Given the description of an element on the screen output the (x, y) to click on. 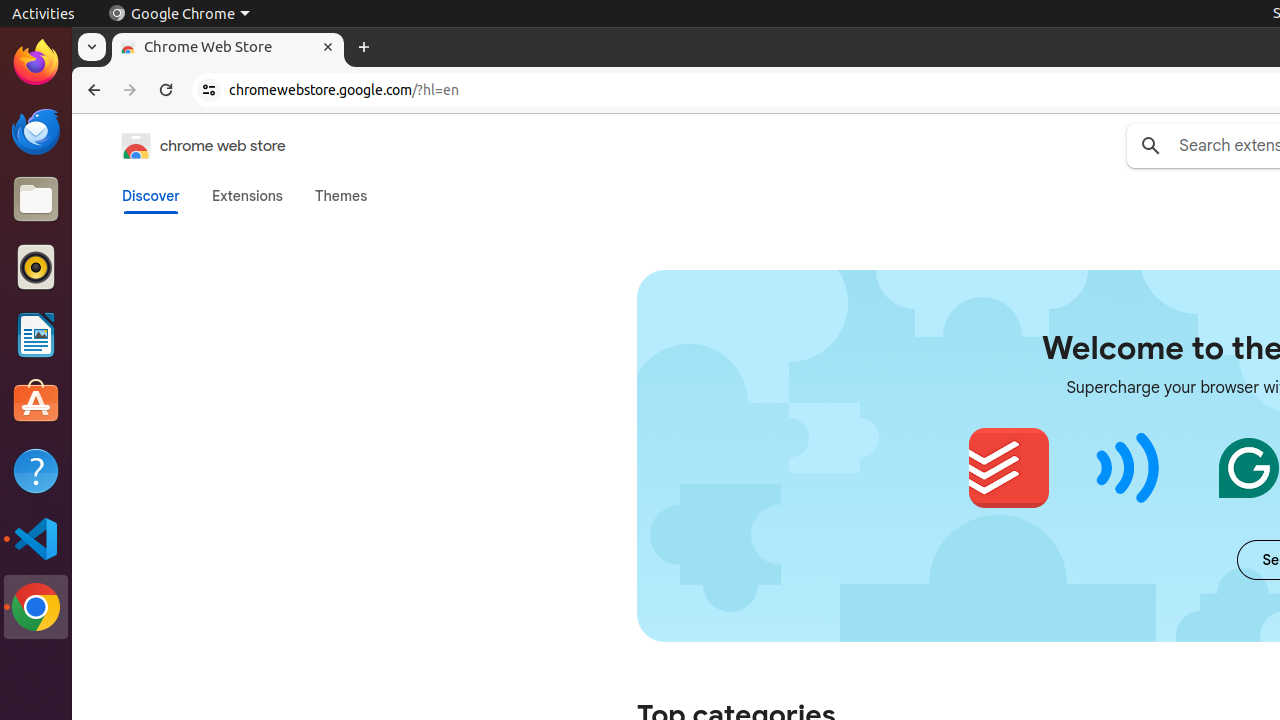
Back Element type: push-button (91, 90)
Help Element type: push-button (36, 470)
Google Chrome Element type: menu (179, 13)
Todoist for Chrome Element type: link (1008, 468)
Reload Element type: push-button (166, 90)
